Given the description of an element on the screen output the (x, y) to click on. 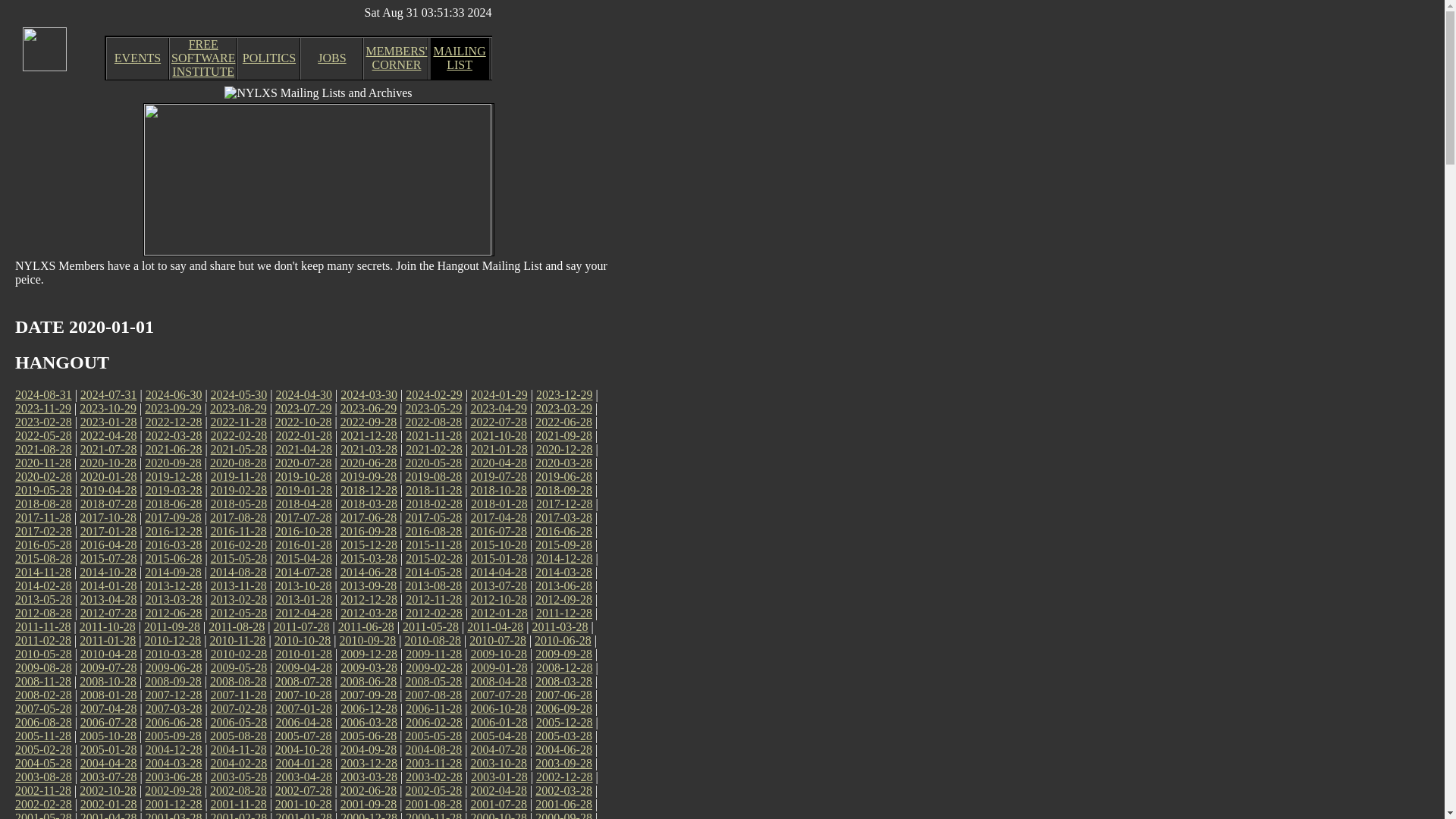
2022-06-28 (563, 421)
2022-10-28 (303, 421)
2022-09-28 (368, 421)
2024-05-30 (239, 394)
2023-07-29 (303, 408)
2023-10-29 (108, 408)
2023-09-29 (458, 58)
2024-03-30 (173, 408)
2022-11-28 (368, 394)
